Given the description of an element on the screen output the (x, y) to click on. 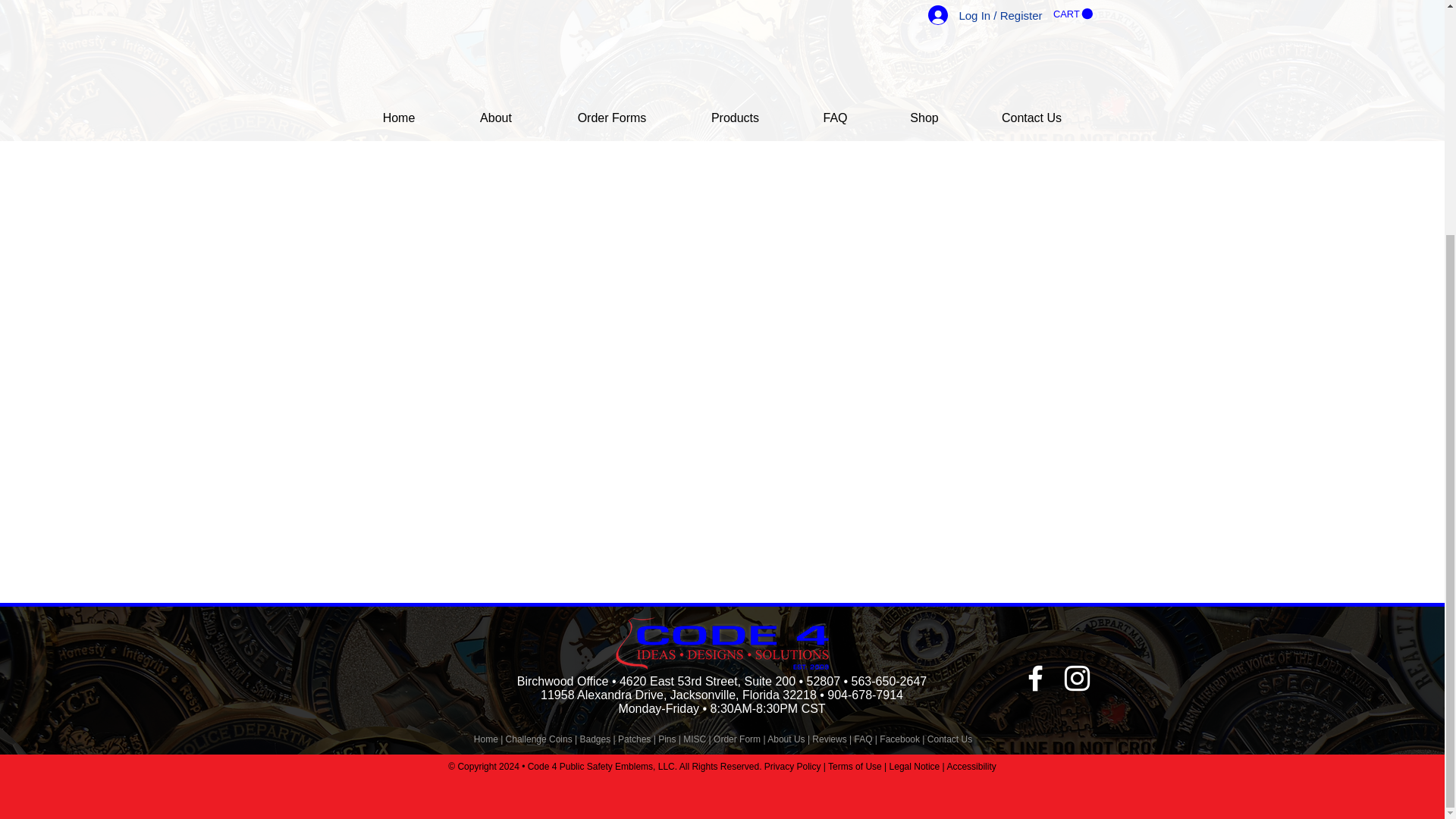
Badges (594, 738)
Challenge Coins (538, 738)
Pins (666, 738)
MISC (694, 738)
Patches (633, 738)
Home (485, 738)
